Given the description of an element on the screen output the (x, y) to click on. 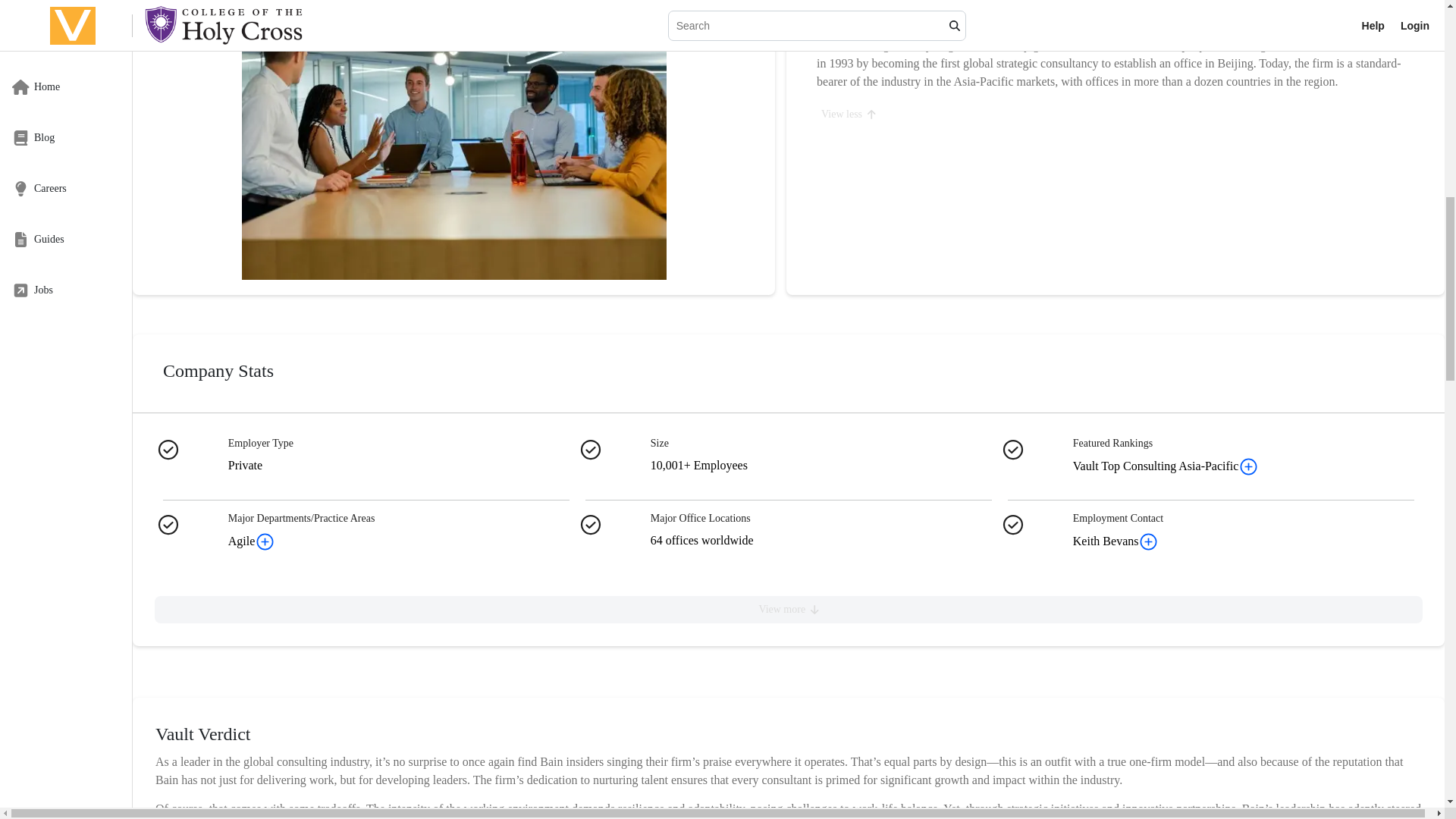
View less (847, 114)
View more (788, 609)
